Given the description of an element on the screen output the (x, y) to click on. 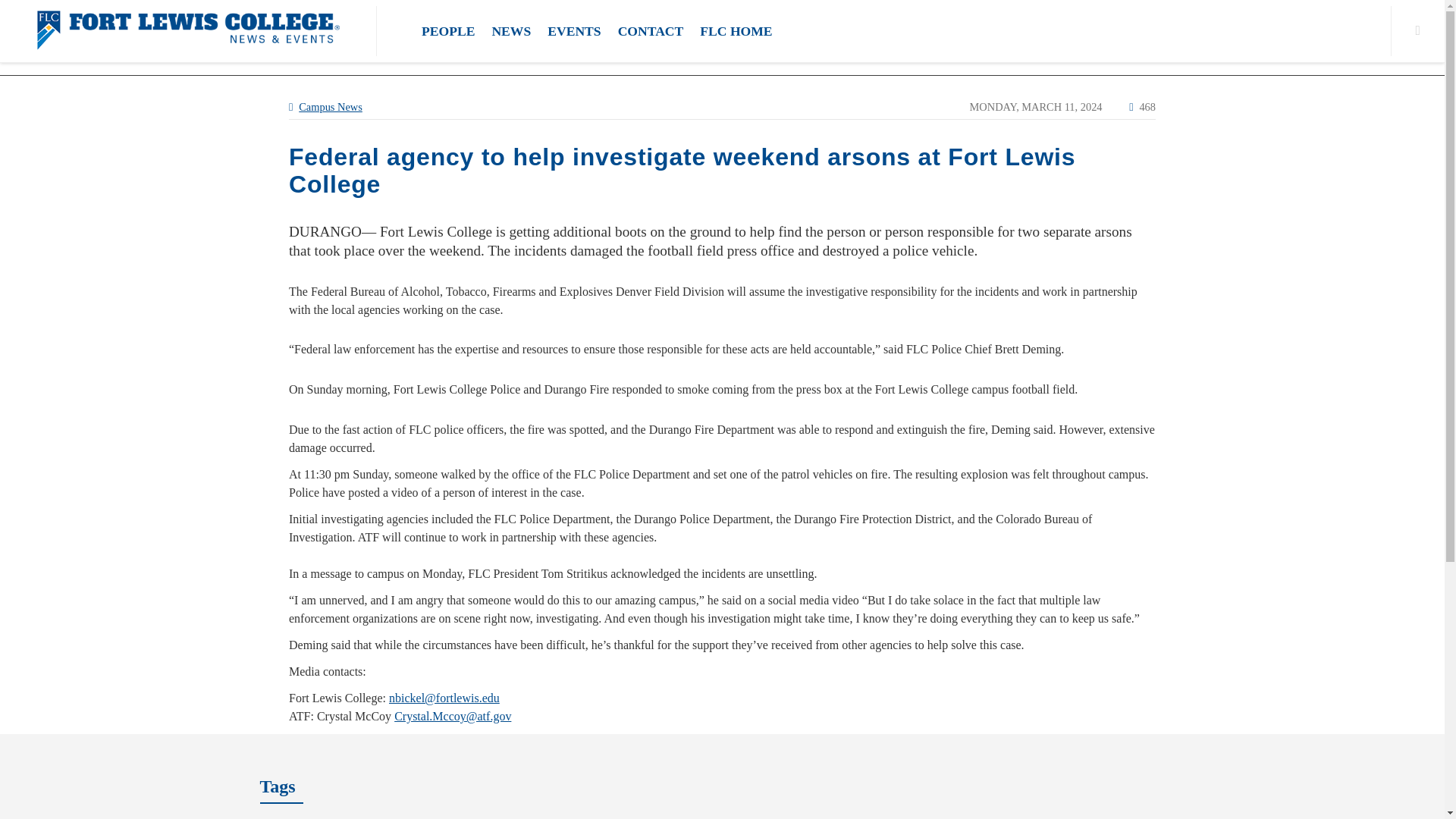
EVENTS (574, 30)
FLC HOME (735, 30)
Campus News (330, 106)
CONTACT (650, 30)
